Given the description of an element on the screen output the (x, y) to click on. 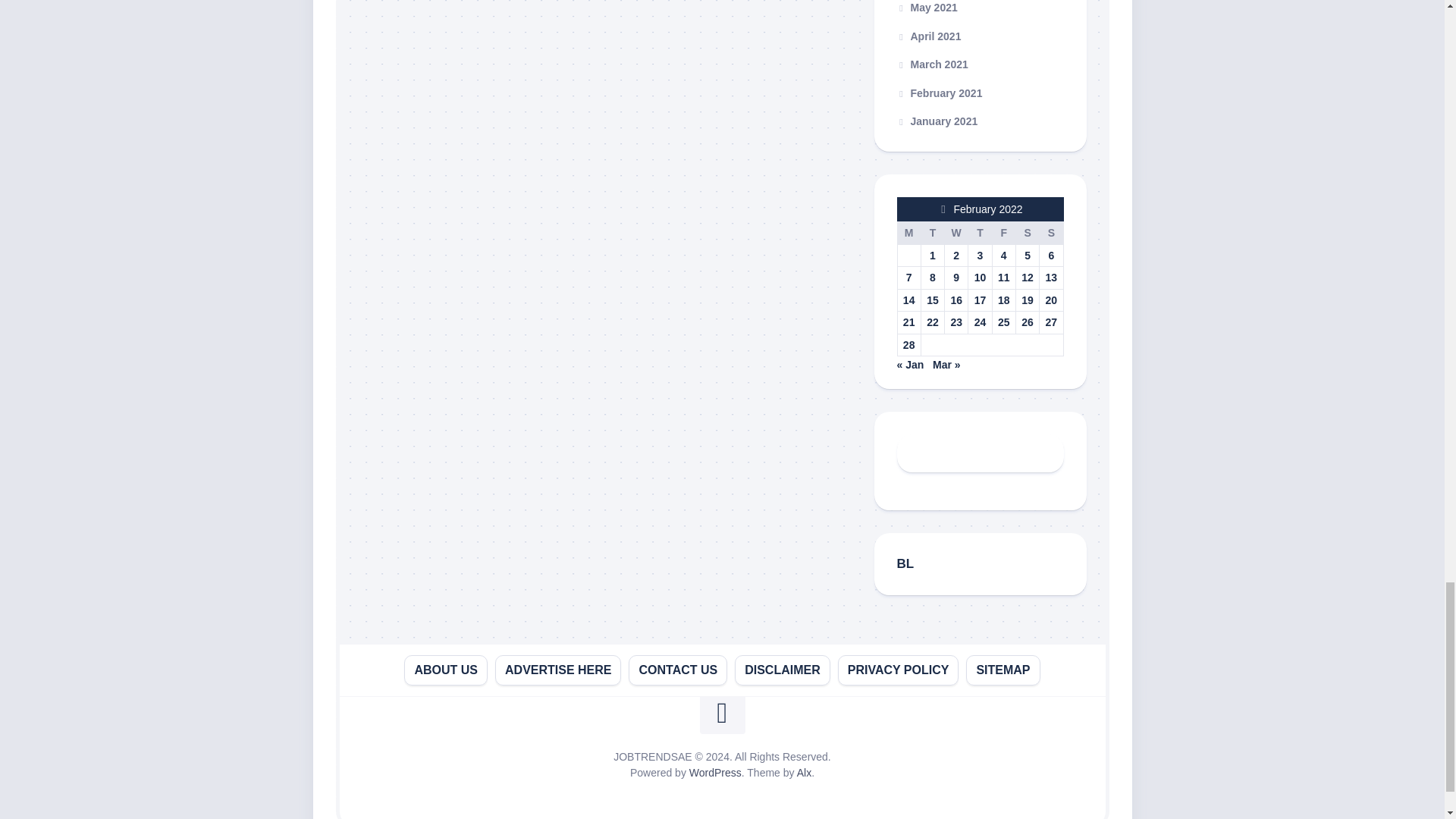
Tuesday (931, 232)
Monday (908, 232)
Saturday (1026, 232)
Thursday (979, 232)
Sunday (1050, 232)
Wednesday (956, 232)
Friday (1002, 232)
